Given the description of an element on the screen output the (x, y) to click on. 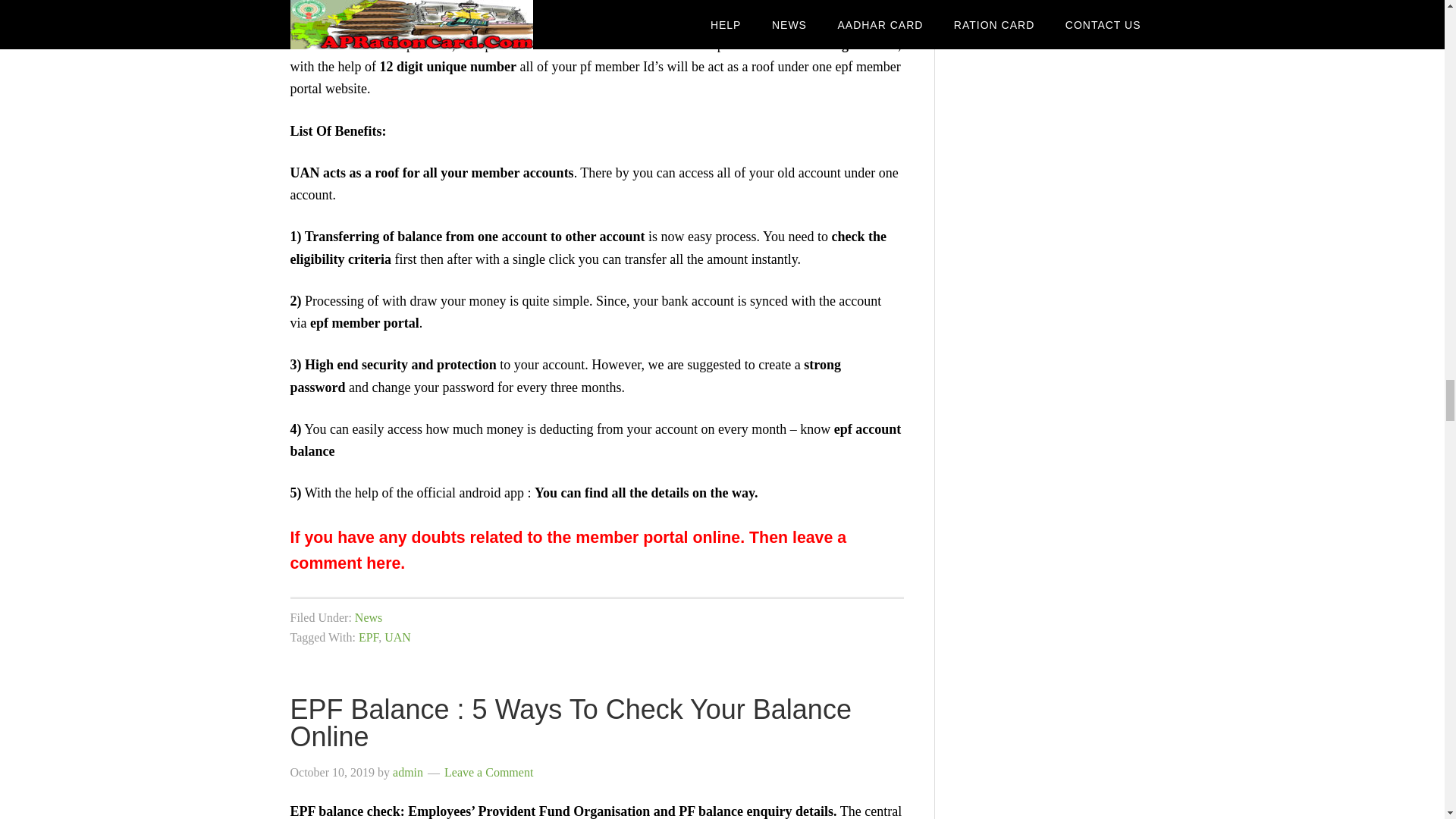
Leave a Comment (488, 771)
News (368, 617)
UAN (397, 636)
EPF (368, 636)
admin (408, 771)
EPF Balance : 5 Ways To Check Your Balance Online (569, 722)
